Given the description of an element on the screen output the (x, y) to click on. 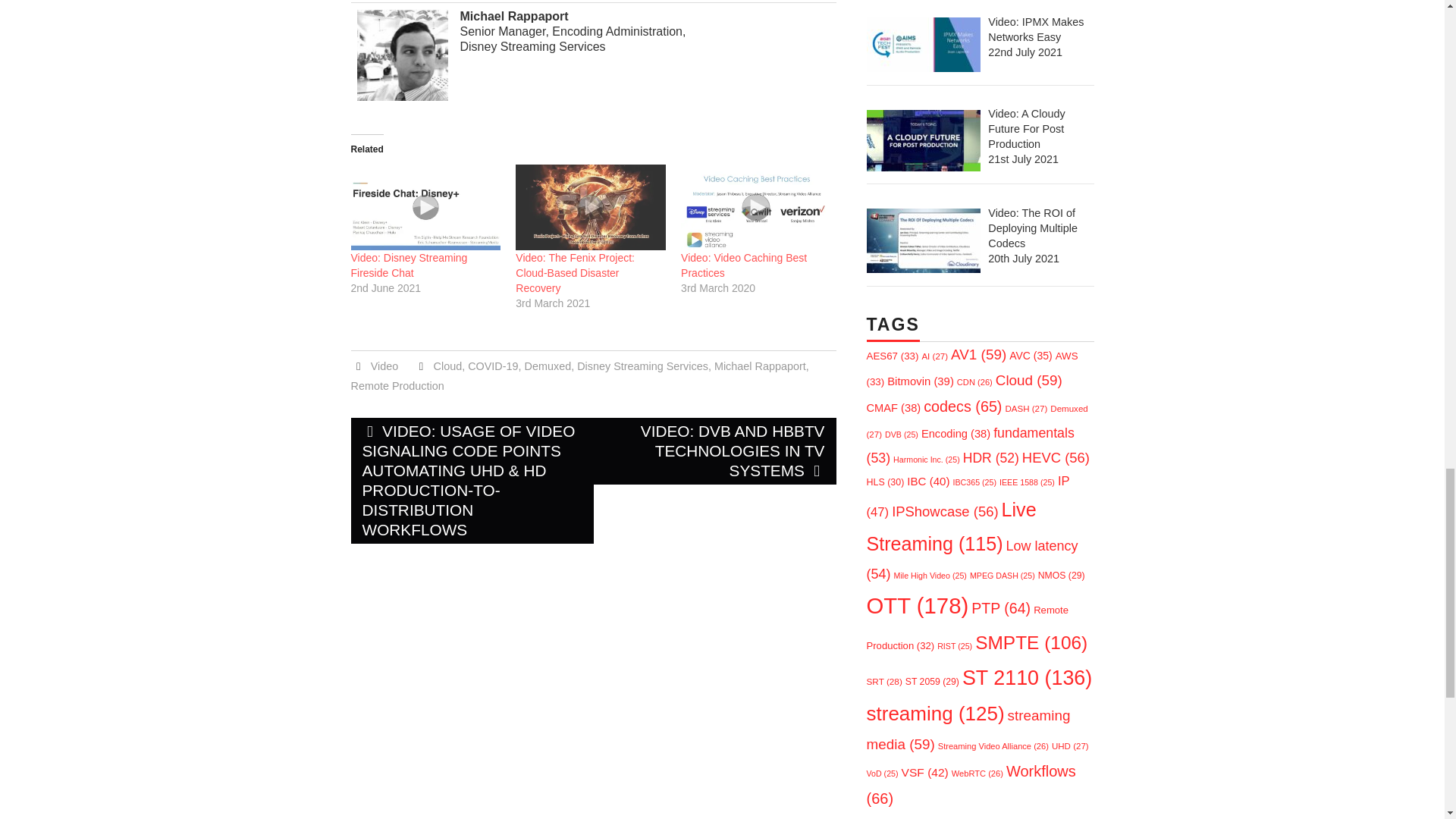
Video: Disney Streaming Fireside Chat (408, 265)
Video: The Fenix Project: Cloud-Based Disaster Recovery (574, 272)
Video: Video Caching Best Practices (743, 265)
Video: Video Caching Best Practices (756, 207)
Video: Disney Streaming Fireside Chat (408, 265)
Video: The Fenix Project: Cloud-Based Disaster Recovery (590, 207)
Cloud (448, 366)
Video: Video Caching Best Practices (743, 265)
VIDEO: DVB AND HBBTV TECHNOLOGIES IN TV SYSTEMS (713, 450)
Video: Disney Streaming Fireside Chat (425, 207)
Demuxed (548, 366)
Michael Rappaport (760, 366)
COVID-19 (492, 366)
Video: The Fenix Project: Cloud-Based Disaster Recovery (574, 272)
Disney Streaming Services (641, 366)
